Given the description of an element on the screen output the (x, y) to click on. 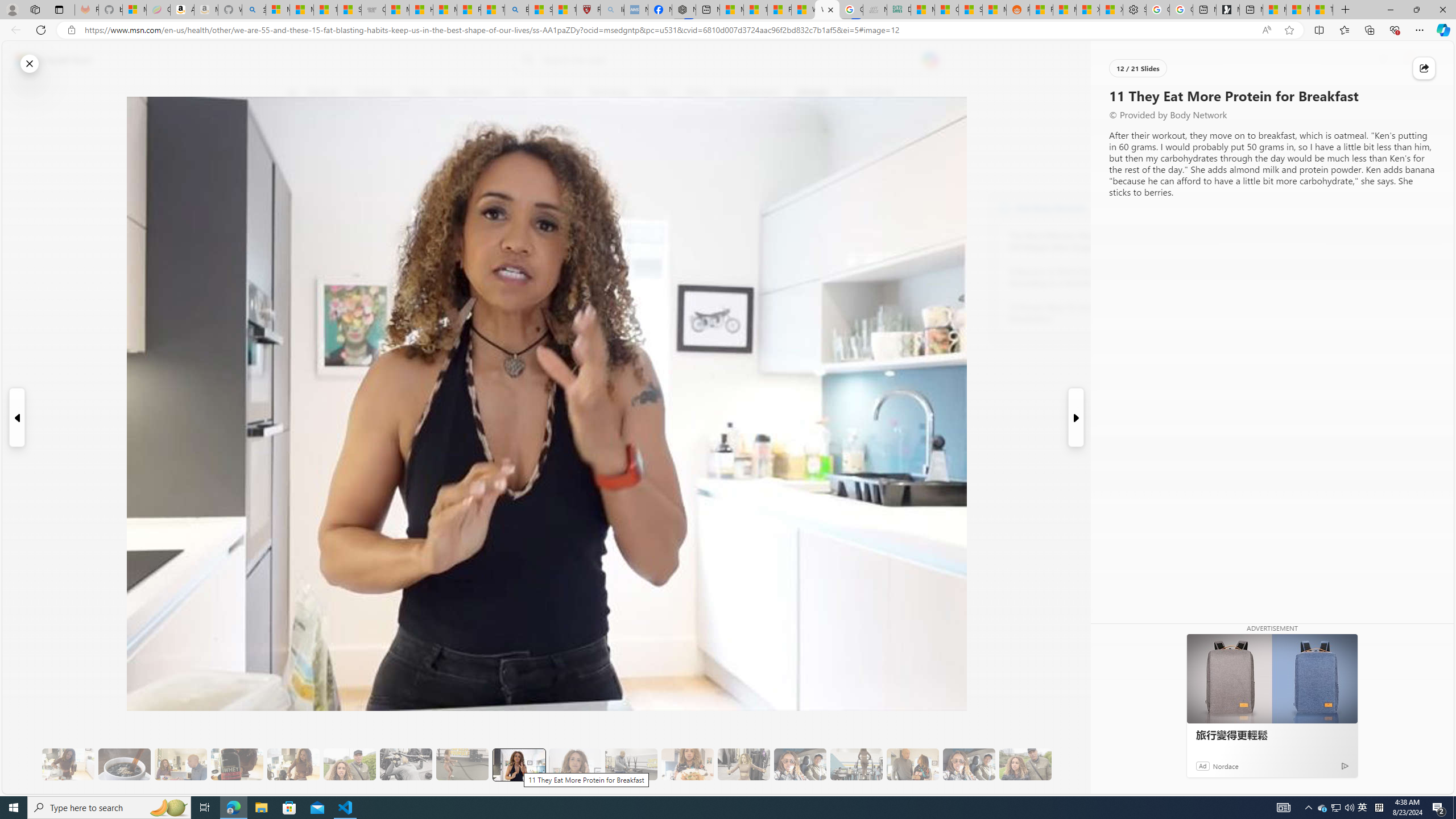
Class: at-item immersive (1423, 68)
Microsoft Start Gaming (1227, 9)
14 They Have Salmon and Veggies for Dinner (687, 764)
Local (517, 92)
Lifestyle (812, 92)
Science (558, 92)
8 They Walk to the Gym (349, 764)
Go to publisher's site (830, 146)
Politics (698, 92)
